Given the description of an element on the screen output the (x, y) to click on. 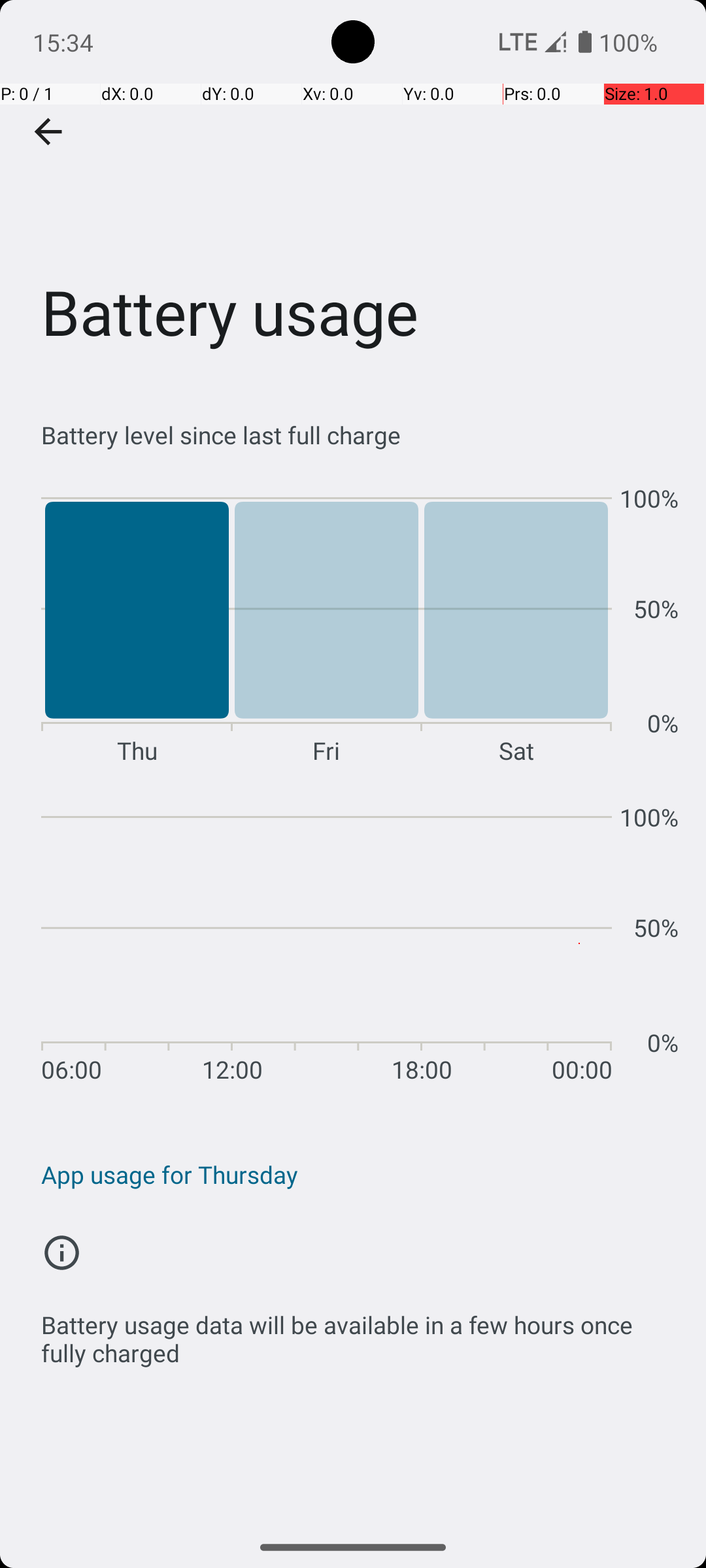
Battery level since last full charge Element type: android.widget.TextView (359, 434)
App usage for Thursday Element type: android.widget.TextView (359, 1174)
Battery usage data will be available in a few hours once fully charged Element type: android.widget.TextView (359, 1331)
Saturday Element type: android.widget.ImageView (515, 624)
06:00-08:00 Element type: android.widget.ImageView (73, 943)
08:00-10:00 Element type: android.widget.ImageView (136, 943)
10:00-12:00 Element type: android.widget.ImageView (199, 943)
12:00-14:00 Element type: android.widget.ImageView (263, 943)
14:00-16:00 Element type: android.widget.ImageView (326, 943)
16:00-18:00 Element type: android.widget.ImageView (389, 943)
18:00-20:00 Element type: android.widget.ImageView (452, 943)
20:00-22:00 Element type: android.widget.ImageView (516, 943)
22:00-00:00 Element type: android.widget.ImageView (578, 943)
